Given the description of an element on the screen output the (x, y) to click on. 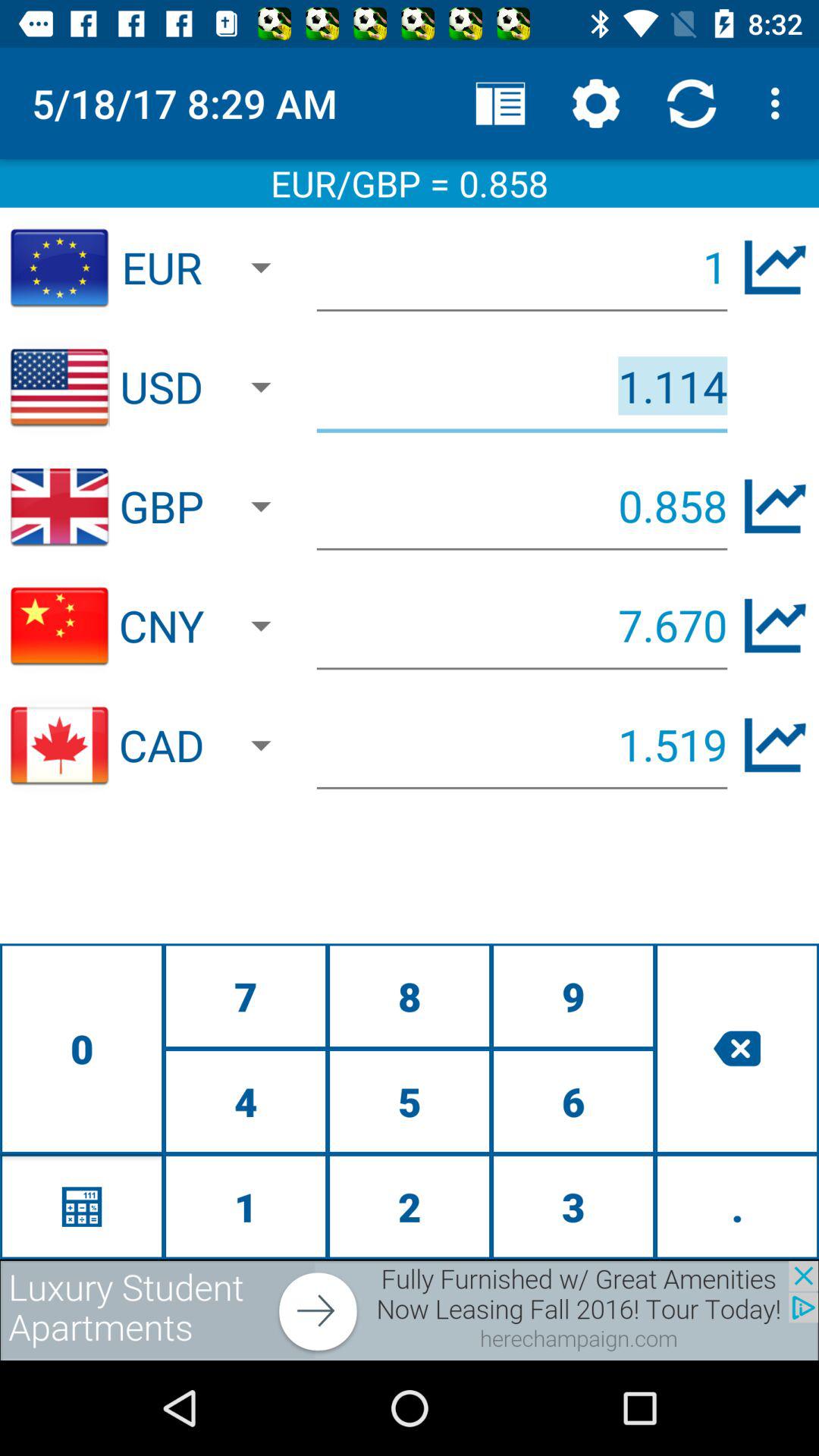
open advertisement (409, 1310)
